Given the description of an element on the screen output the (x, y) to click on. 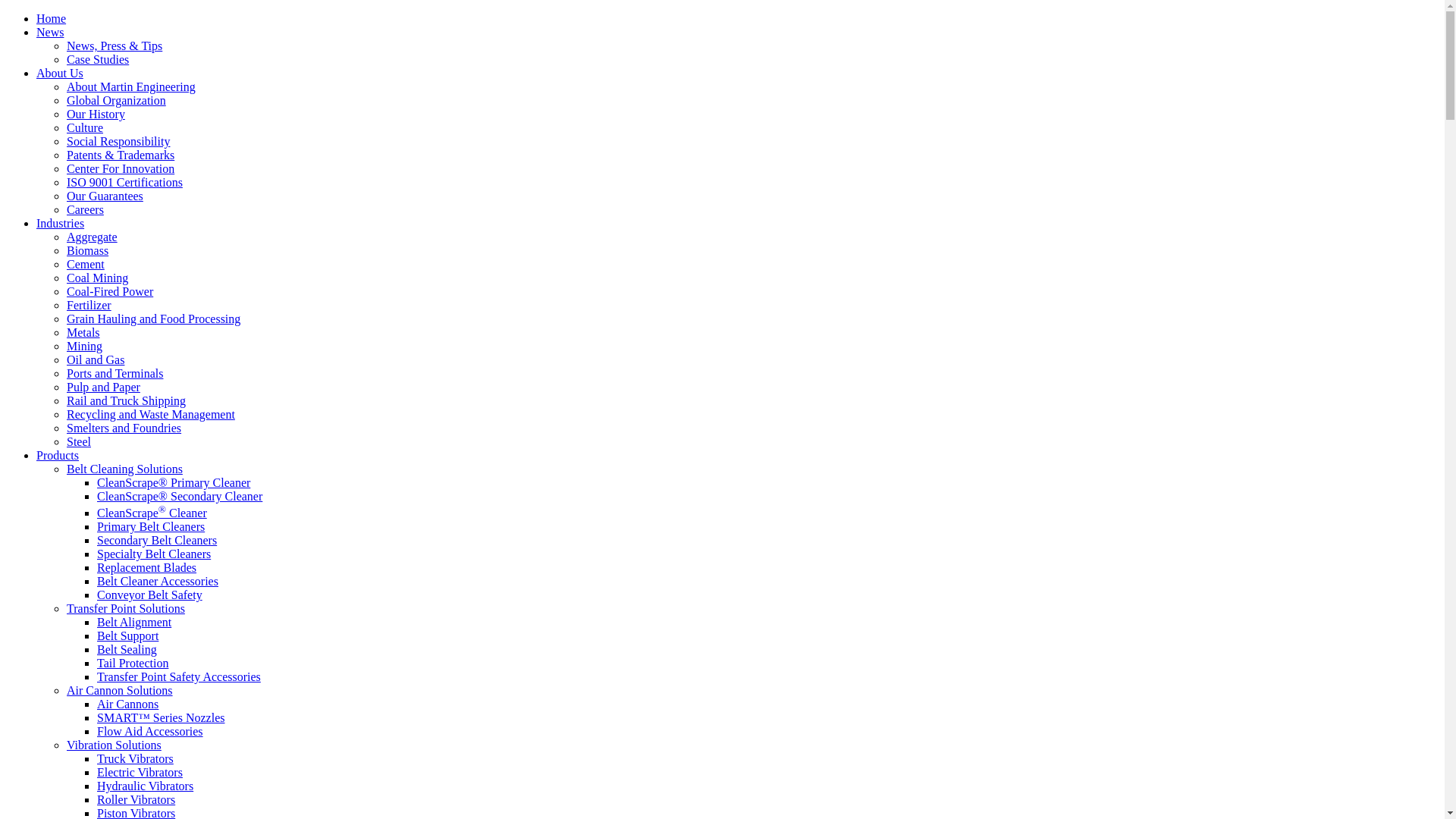
Aggregate Element type: text (91, 236)
Truck Vibrators Element type: text (135, 758)
Patents & Trademarks Element type: text (120, 154)
Vibration Solutions Element type: text (113, 744)
Flow Aid Accessories Element type: text (150, 730)
Coal-Fired Power Element type: text (109, 291)
Home Element type: text (50, 18)
Ports and Terminals Element type: text (114, 373)
Case Studies Element type: text (97, 59)
Smelters and Foundries Element type: text (123, 427)
Fertilizer Element type: text (88, 304)
Oil and Gas Element type: text (95, 359)
Tail Protection Element type: text (132, 662)
Belt Alignment Element type: text (134, 621)
Products Element type: text (57, 454)
Transfer Point Solutions Element type: text (125, 608)
Global Organization Element type: text (116, 100)
Rail and Truck Shipping Element type: text (125, 400)
Secondary Belt Cleaners Element type: text (156, 539)
Careers Element type: text (84, 209)
Roller Vibrators Element type: text (136, 799)
Grain Hauling and Food Processing Element type: text (153, 318)
Social Responsibility Element type: text (117, 140)
Specialty Belt Cleaners Element type: text (153, 553)
Hydraulic Vibrators Element type: text (145, 785)
ISO 9001 Certifications Element type: text (124, 181)
Belt Sealing Element type: text (126, 649)
Our History Element type: text (95, 113)
Cement Element type: text (85, 263)
Industries Element type: text (60, 222)
News Element type: text (49, 31)
Electric Vibrators Element type: text (139, 771)
Center For Innovation Element type: text (120, 168)
Recycling and Waste Management Element type: text (150, 413)
Conveyor Belt Safety Element type: text (149, 594)
Metals Element type: text (83, 332)
About Us Element type: text (59, 72)
Pulp and Paper Element type: text (103, 386)
Coal Mining Element type: text (97, 277)
Belt Cleaning Solutions Element type: text (124, 468)
Culture Element type: text (84, 127)
Mining Element type: text (84, 345)
Belt Support Element type: text (127, 635)
Primary Belt Cleaners Element type: text (150, 526)
News, Press & Tips Element type: text (114, 45)
About Martin Engineering Element type: text (130, 86)
Belt Cleaner Accessories Element type: text (157, 580)
Replacement Blades Element type: text (146, 567)
Steel Element type: text (78, 441)
Air Cannon Solutions Element type: text (119, 690)
Our Guarantees Element type: text (104, 195)
Biomass Element type: text (87, 250)
Air Cannons Element type: text (127, 703)
Transfer Point Safety Accessories Element type: text (178, 676)
